Given the description of an element on the screen output the (x, y) to click on. 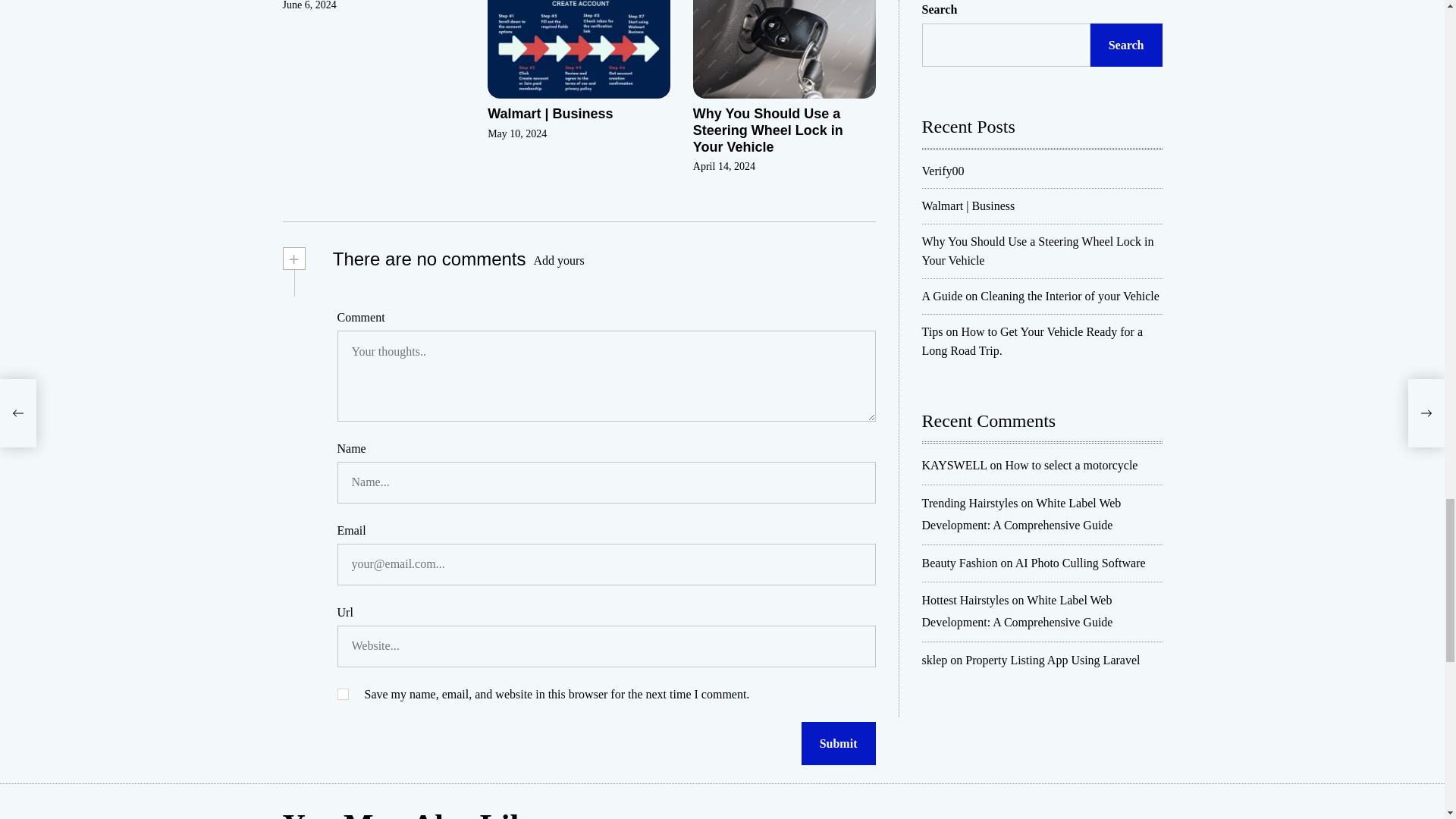
yes (341, 694)
Submit (839, 742)
